Given the description of an element on the screen output the (x, y) to click on. 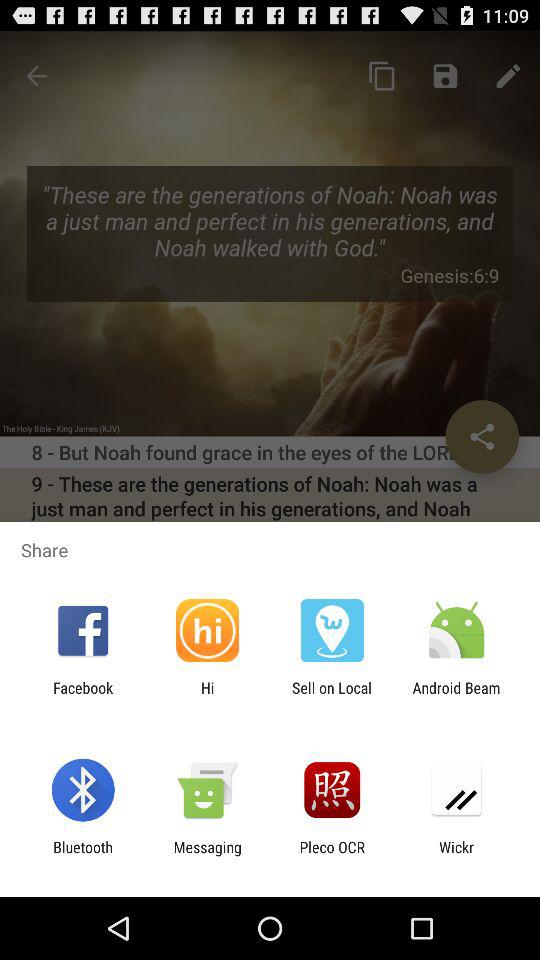
tap icon to the right of pleco ocr app (456, 856)
